Given the description of an element on the screen output the (x, y) to click on. 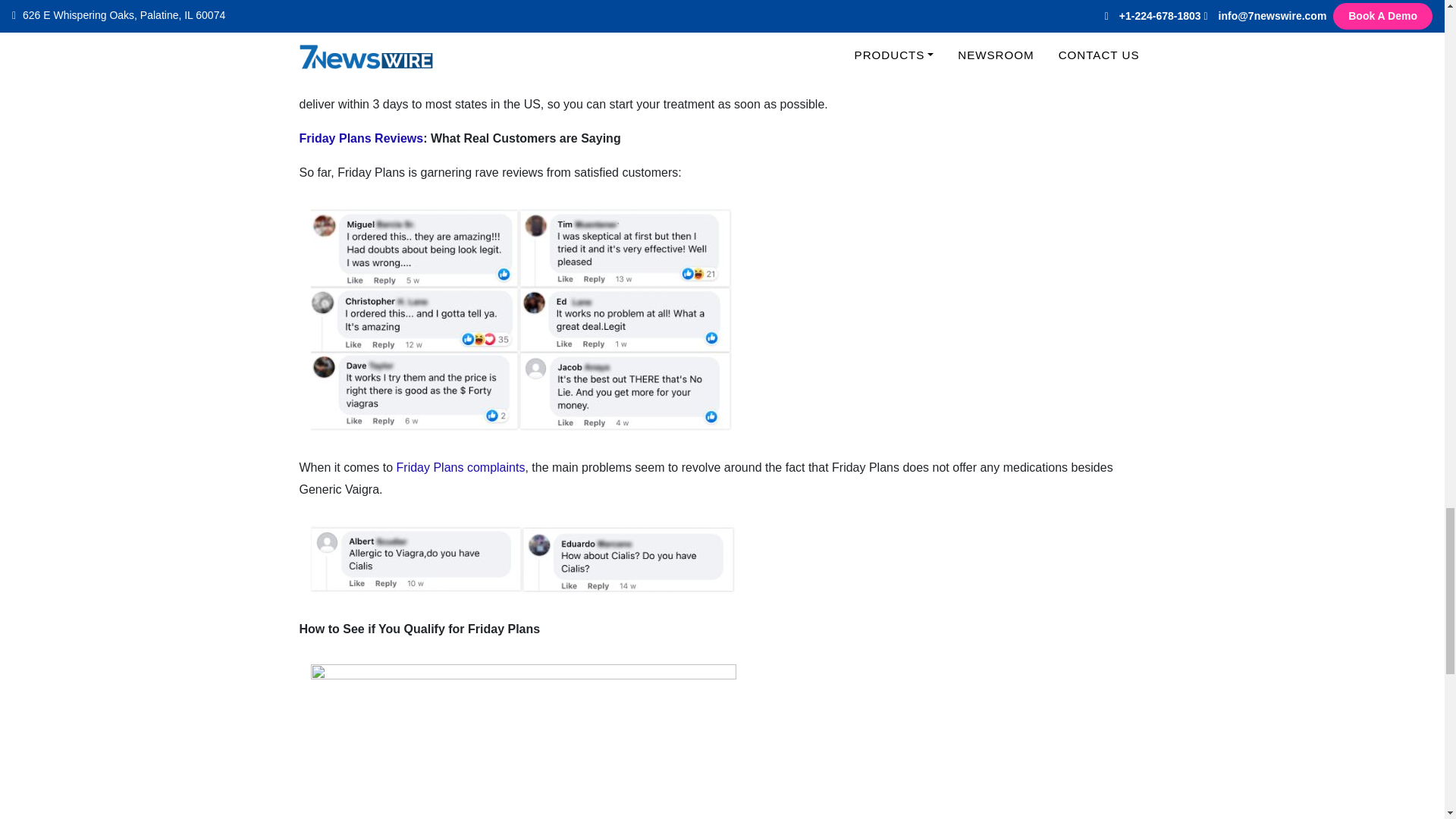
Friday Plans Reviews (360, 137)
Friday Plans complaints (460, 467)
